Given the description of an element on the screen output the (x, y) to click on. 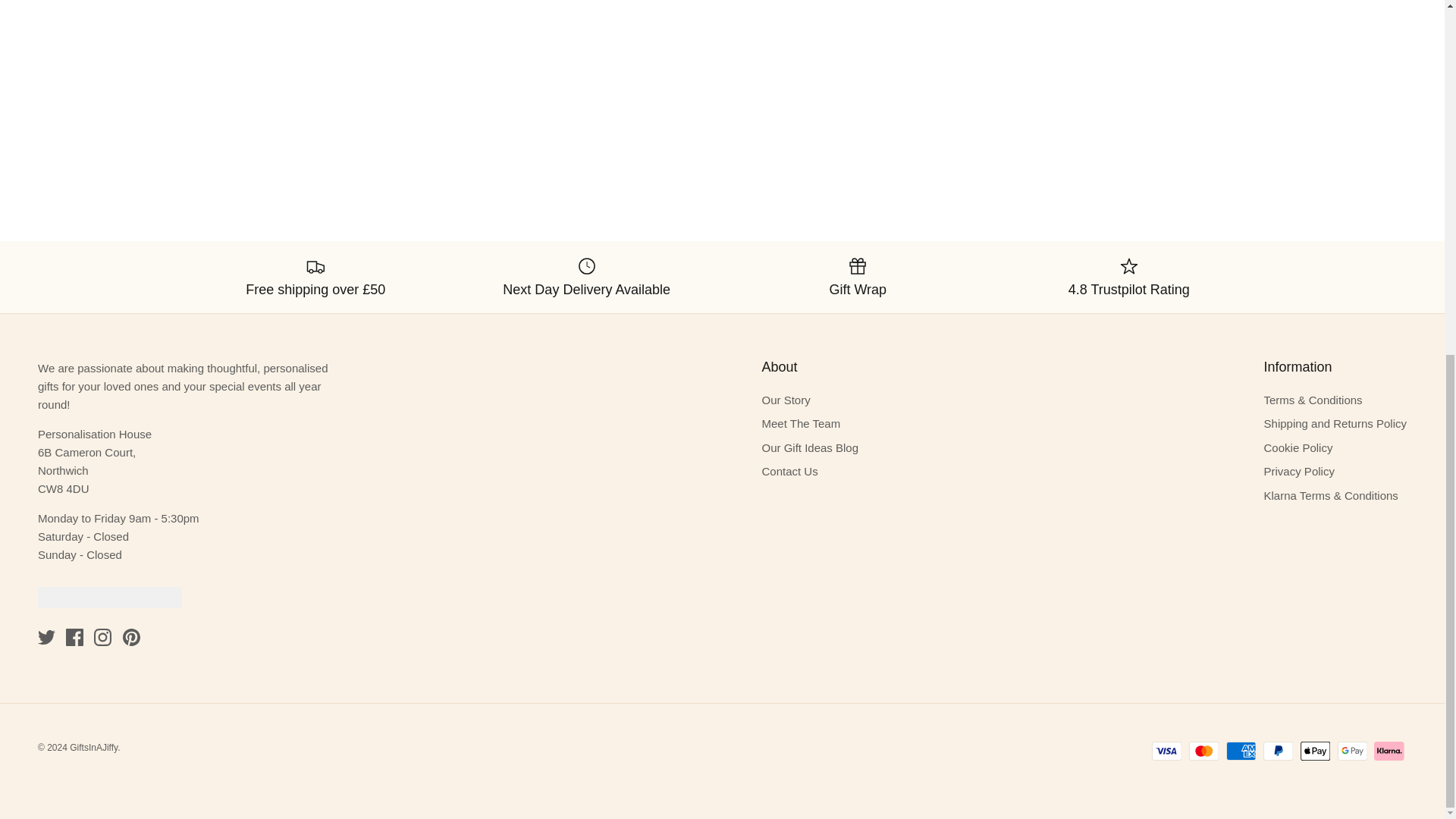
Pinterest (130, 637)
Visa (1166, 751)
Instagram (103, 637)
American Express (1240, 751)
Mastercard (1203, 751)
PayPal (1277, 751)
Google Pay (1352, 751)
Facebook (73, 637)
Klarna (1388, 751)
Twitter (46, 637)
